Given the description of an element on the screen output the (x, y) to click on. 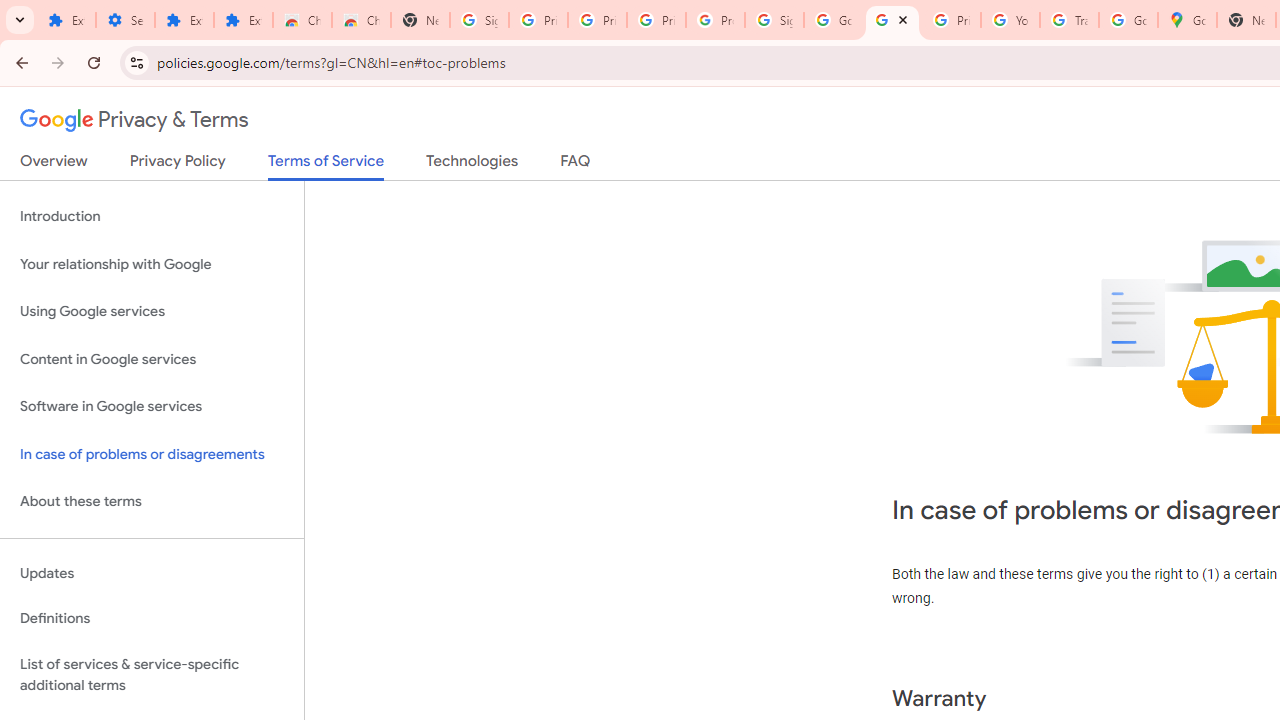
Using Google services (152, 312)
About these terms (152, 502)
Chrome Web Store - Themes (360, 20)
Extensions (183, 20)
Sign in - Google Accounts (479, 20)
